Given the description of an element on the screen output the (x, y) to click on. 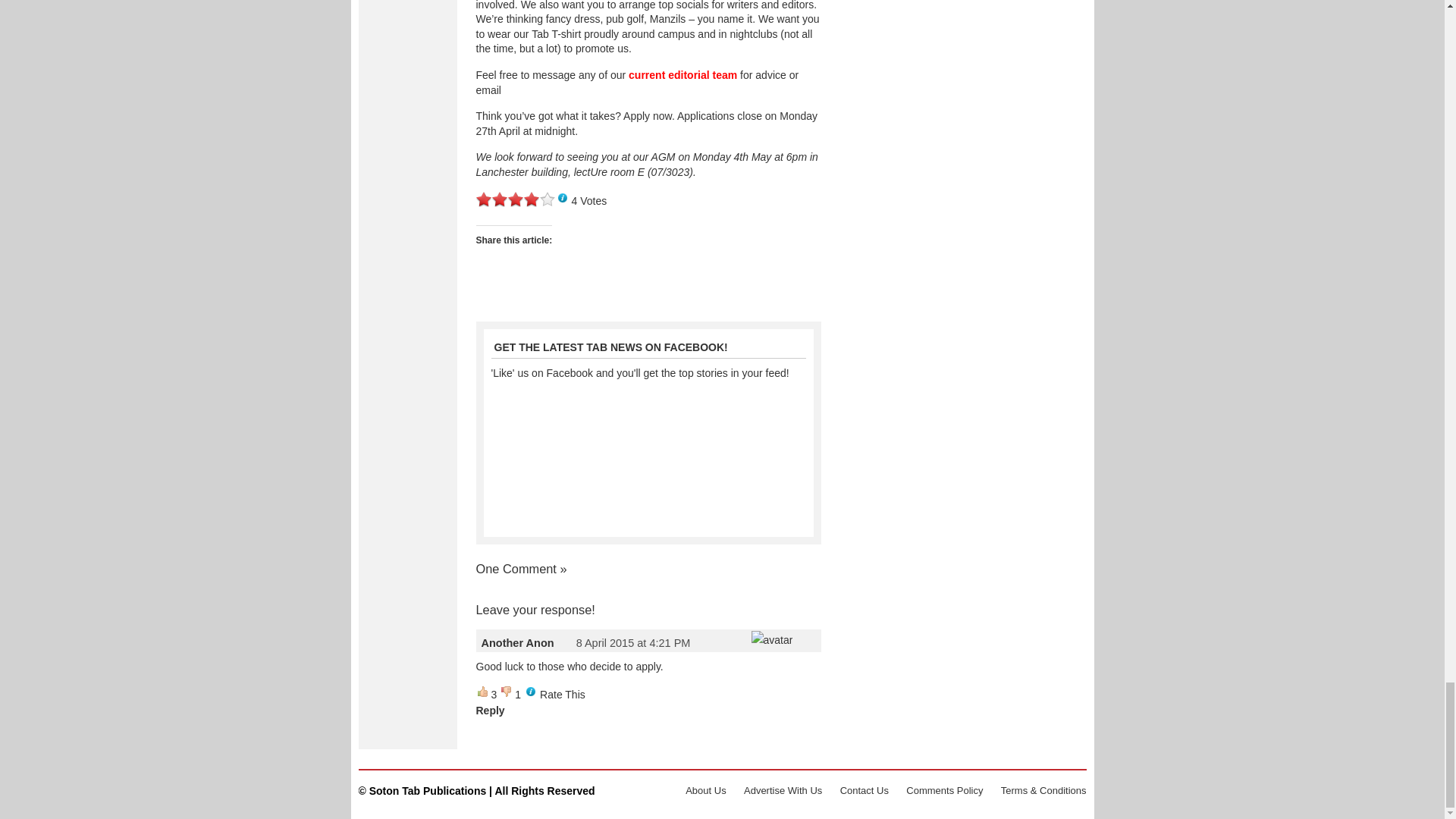
Soton Tab (476, 790)
current editorial team (682, 74)
Leave a comment (562, 568)
